Given the description of an element on the screen output the (x, y) to click on. 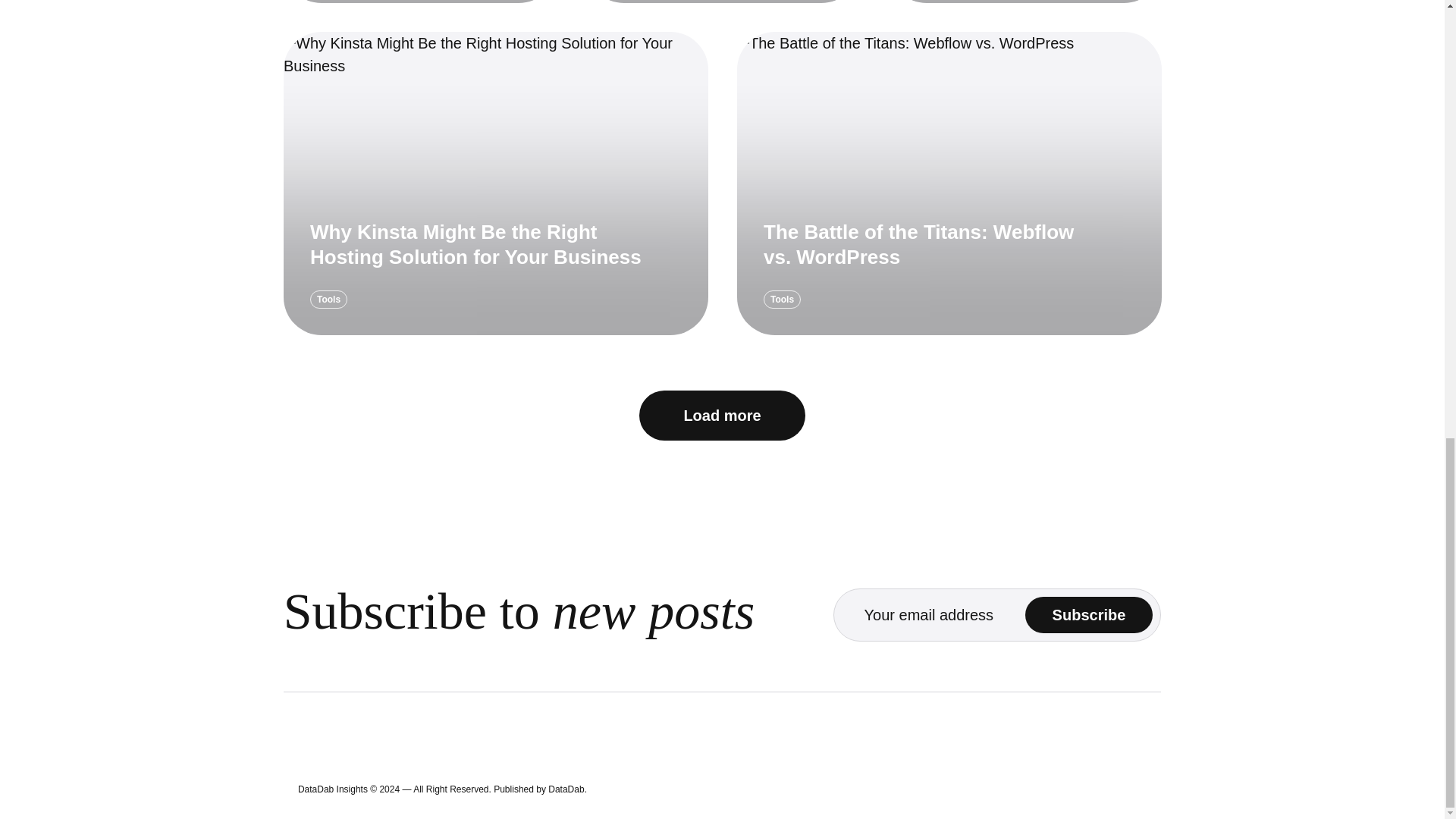
The Battle of the Titans: Webflow vs. WordPress (918, 244)
Load more (722, 415)
DataDab (565, 788)
Tools (781, 299)
Tools (328, 299)
DataDab Insights (333, 788)
Subscribe (1089, 615)
